Given the description of an element on the screen output the (x, y) to click on. 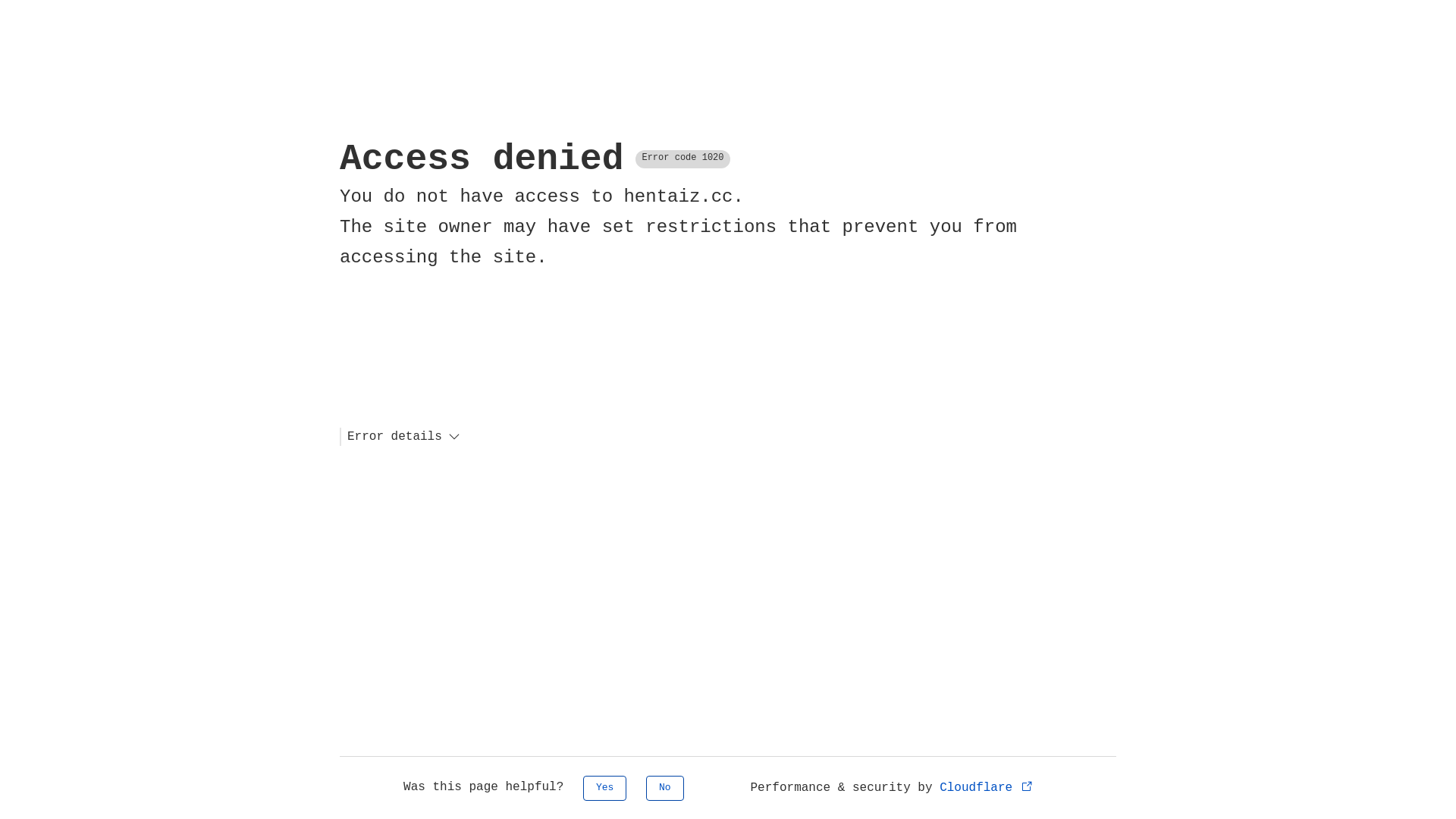
Opens in new tab Element type: hover (1027, 785)
Cloudflare Element type: text (986, 787)
Yes Element type: text (604, 787)
No Element type: text (665, 787)
